Given the description of an element on the screen output the (x, y) to click on. 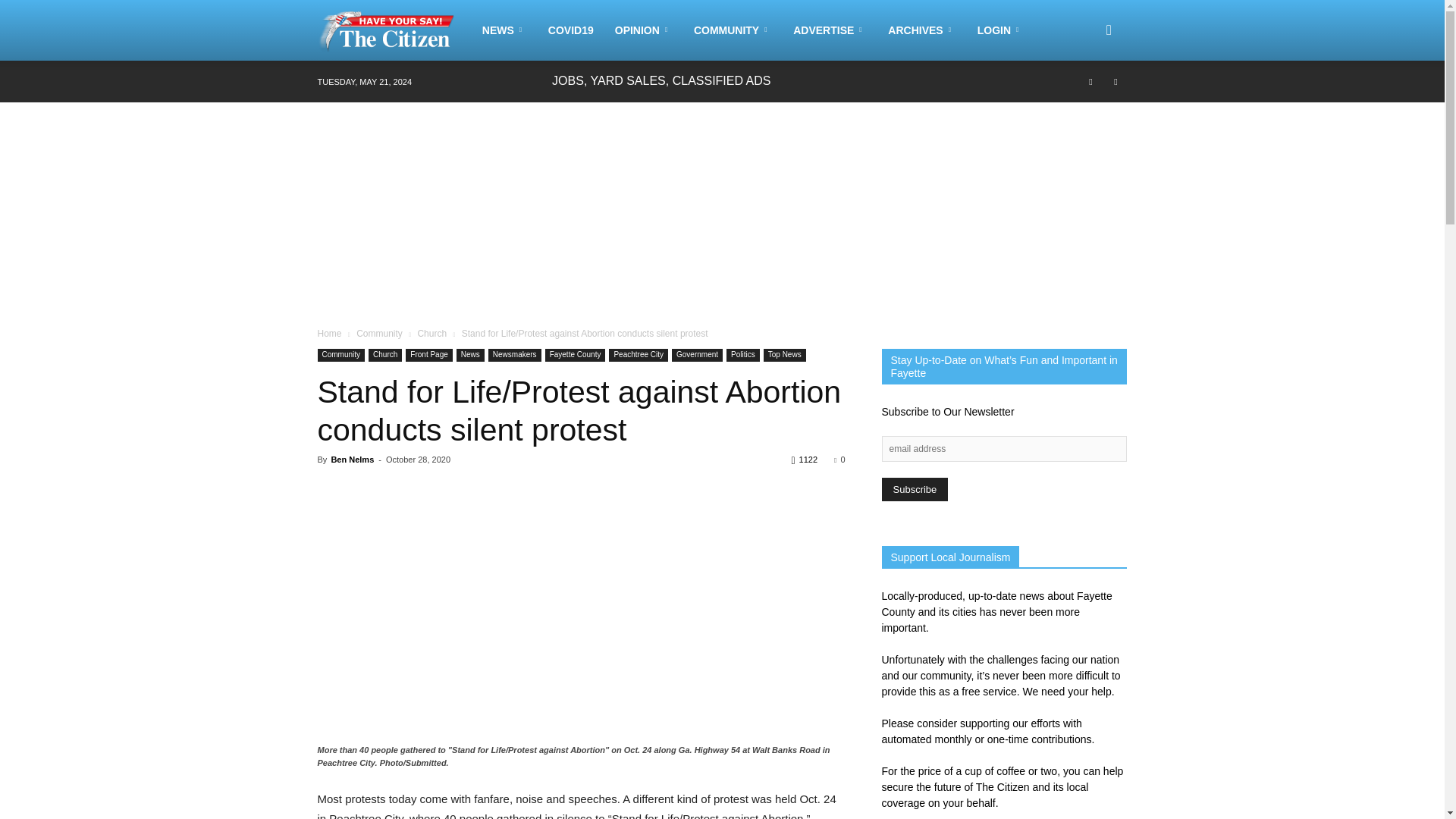
Subscribe (913, 489)
View all posts in Church (431, 333)
Twitter (1114, 80)
Facebook (1090, 80)
View all posts in Community (379, 333)
